Given the description of an element on the screen output the (x, y) to click on. 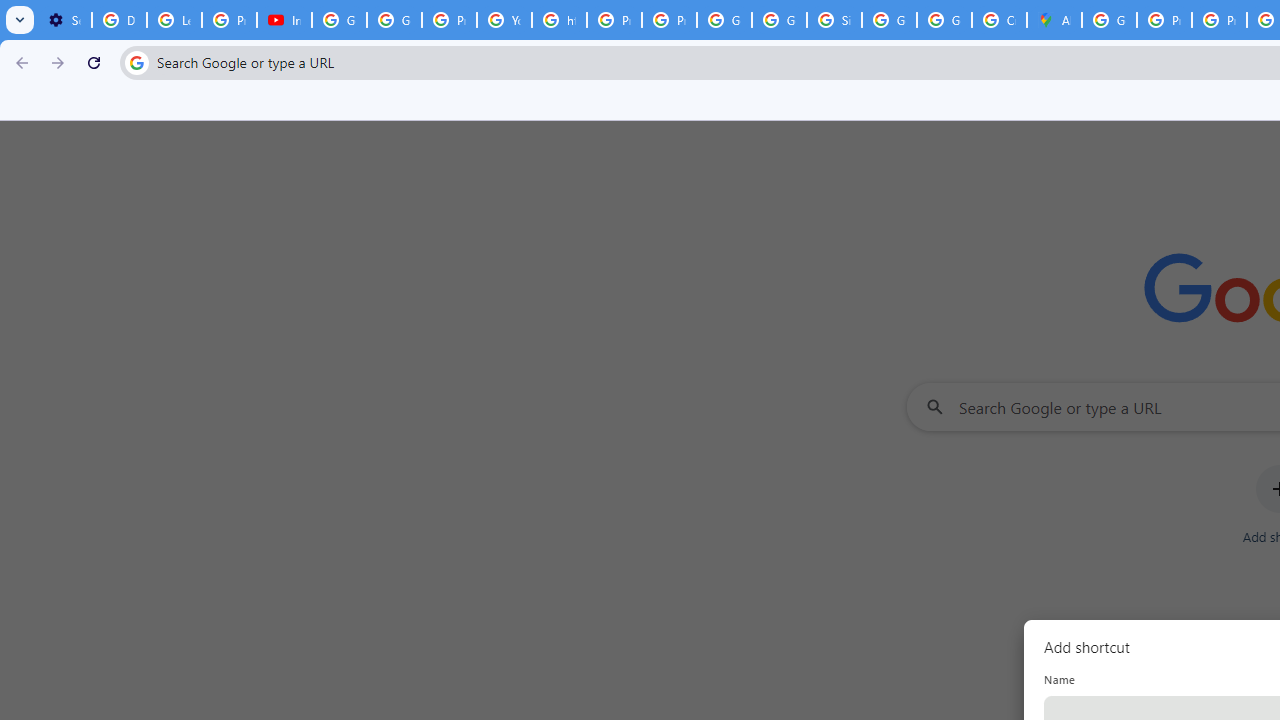
Delete photos & videos - Computer - Google Photos Help (119, 20)
Google Account Help (339, 20)
Privacy Help Center - Policies Help (1218, 20)
Create your Google Account (998, 20)
Sign in - Google Accounts (833, 20)
Introduction | Google Privacy Policy - YouTube (284, 20)
Google Account Help (394, 20)
